Given the description of an element on the screen output the (x, y) to click on. 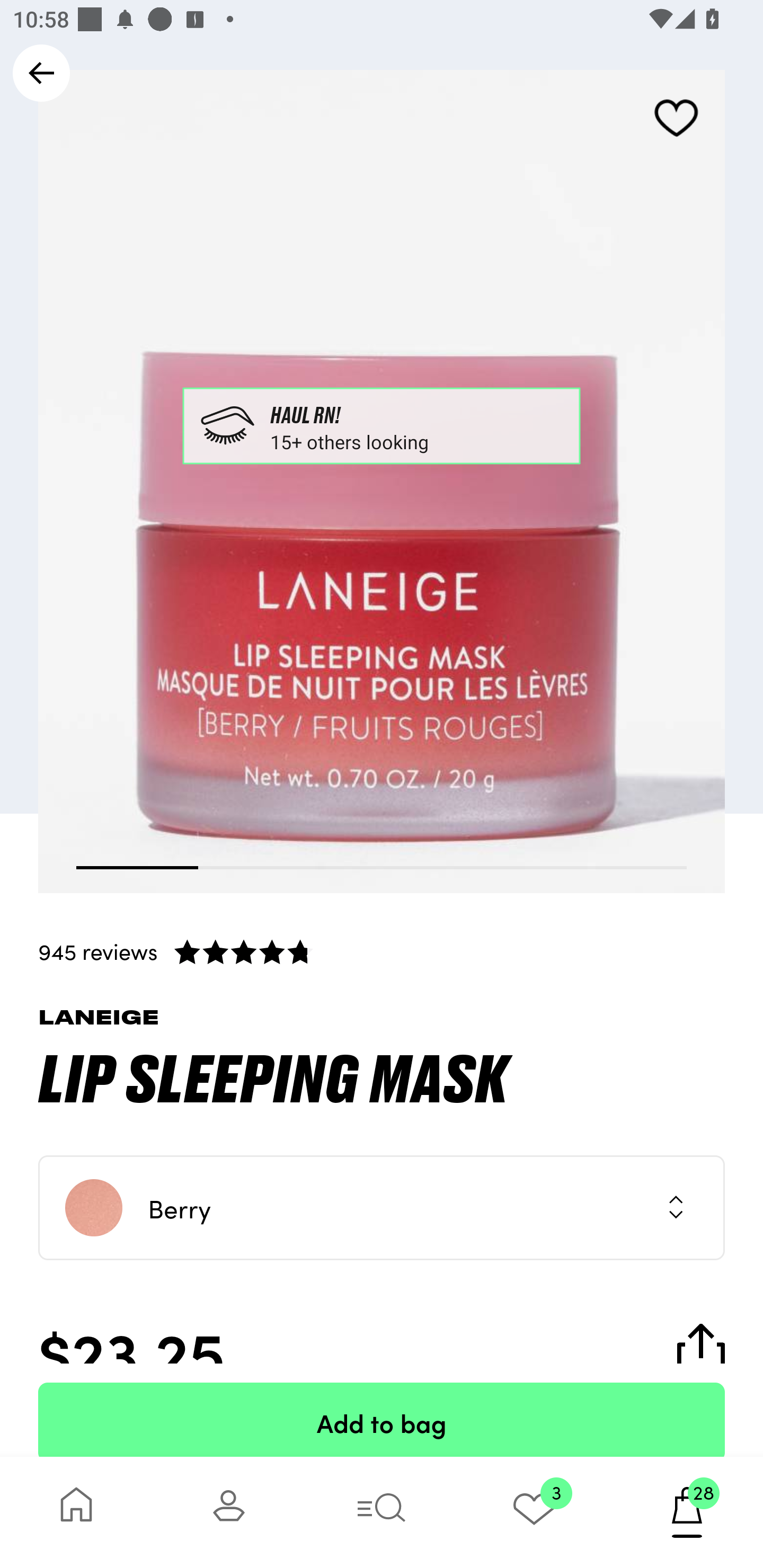
945 reviews (381, 950)
Berry  (381, 1207)
Add to bag (381, 1419)
3 (533, 1512)
28 (686, 1512)
